Given the description of an element on the screen output the (x, y) to click on. 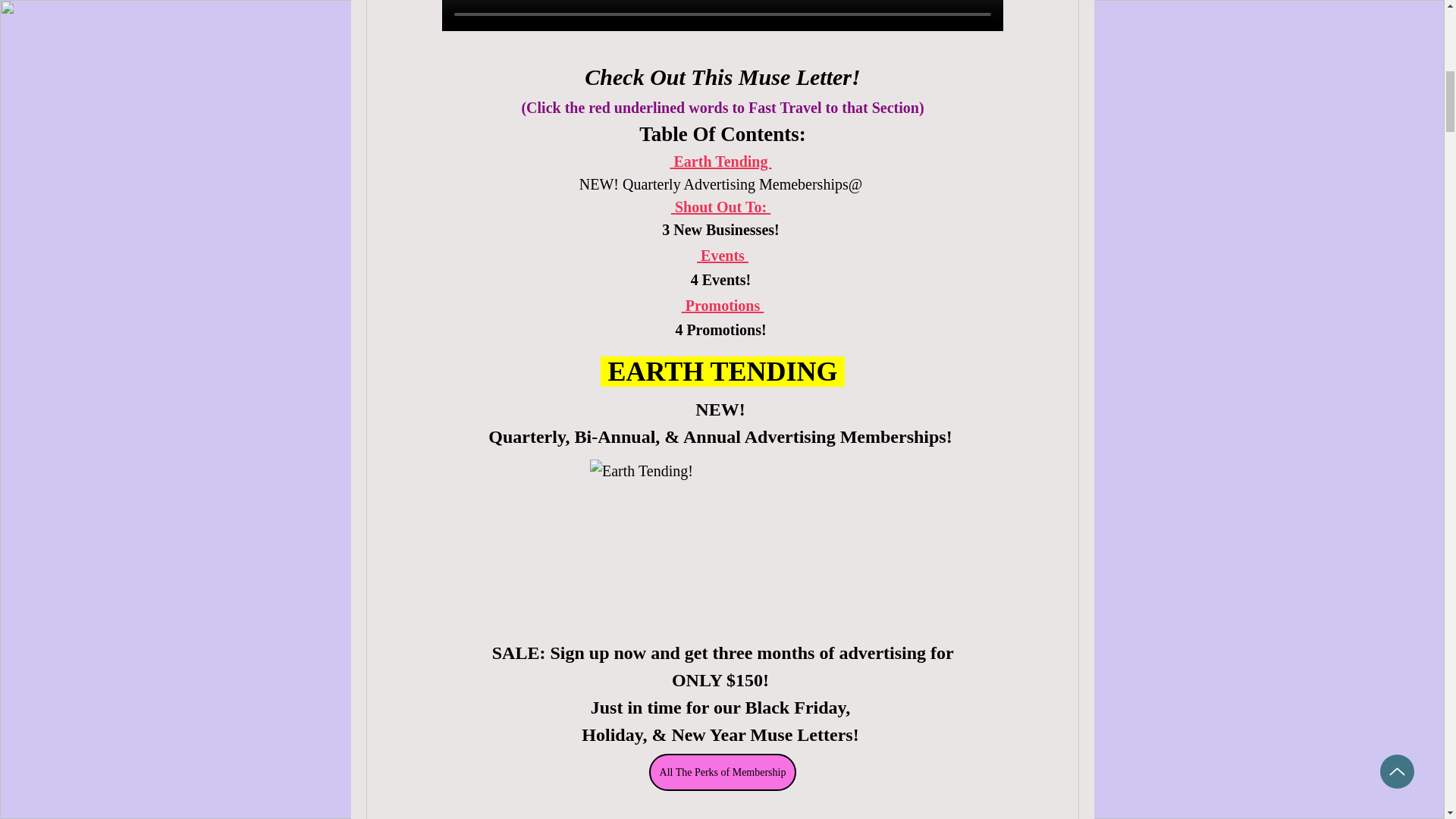
Shout Out To:  (722, 207)
All The Perks of Membership (721, 772)
 Earth Tending  (720, 161)
 Events  (722, 254)
 Promotions  (721, 304)
